Given the description of an element on the screen output the (x, y) to click on. 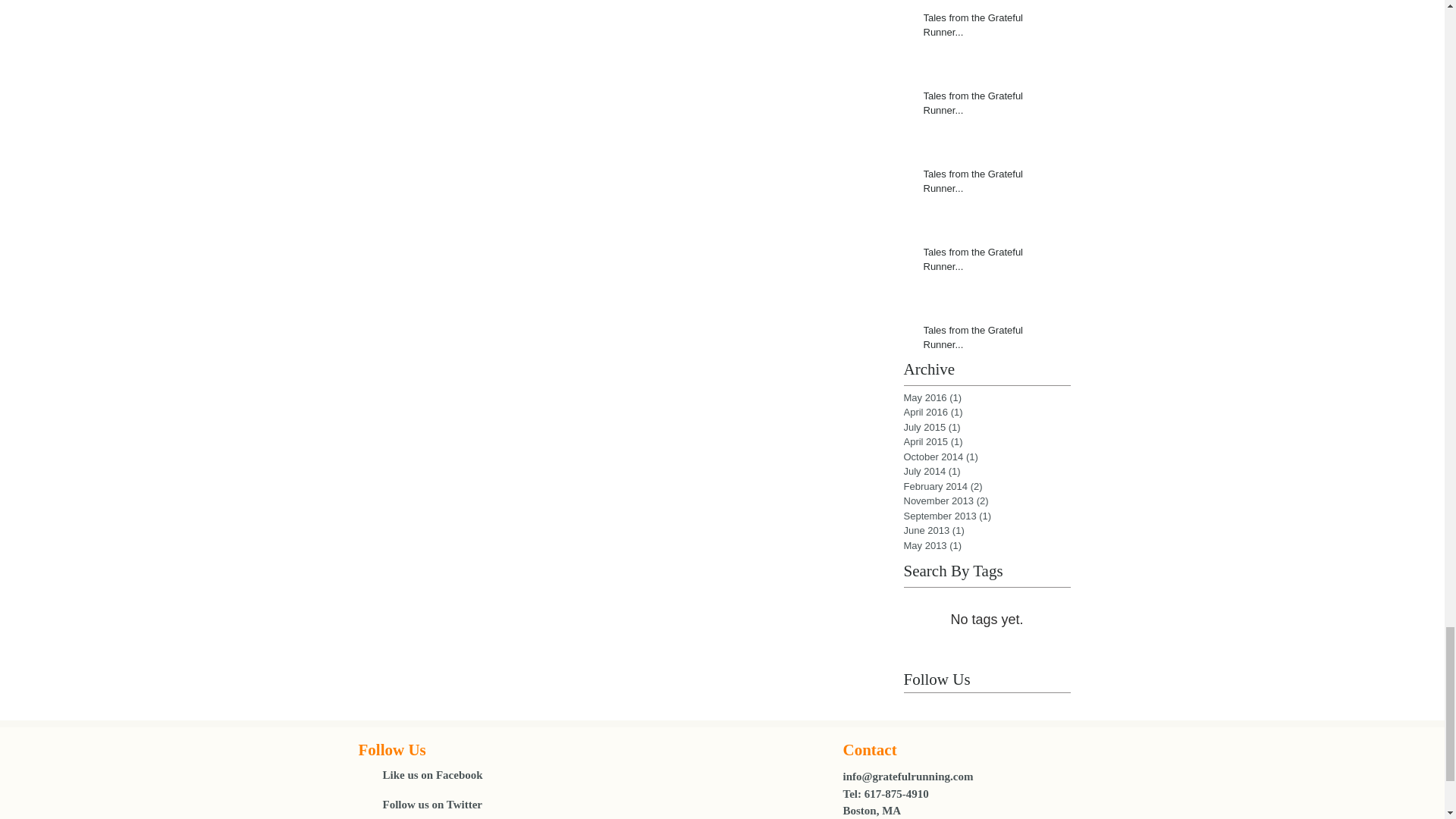
Tales from the Grateful Runner... (992, 340)
Tales from the Grateful Runner... (992, 28)
Tales from the Grateful Runner... (992, 105)
Tales from the Grateful Runner... (992, 262)
Tales from the Grateful Runner... (992, 183)
